Given the description of an element on the screen output the (x, y) to click on. 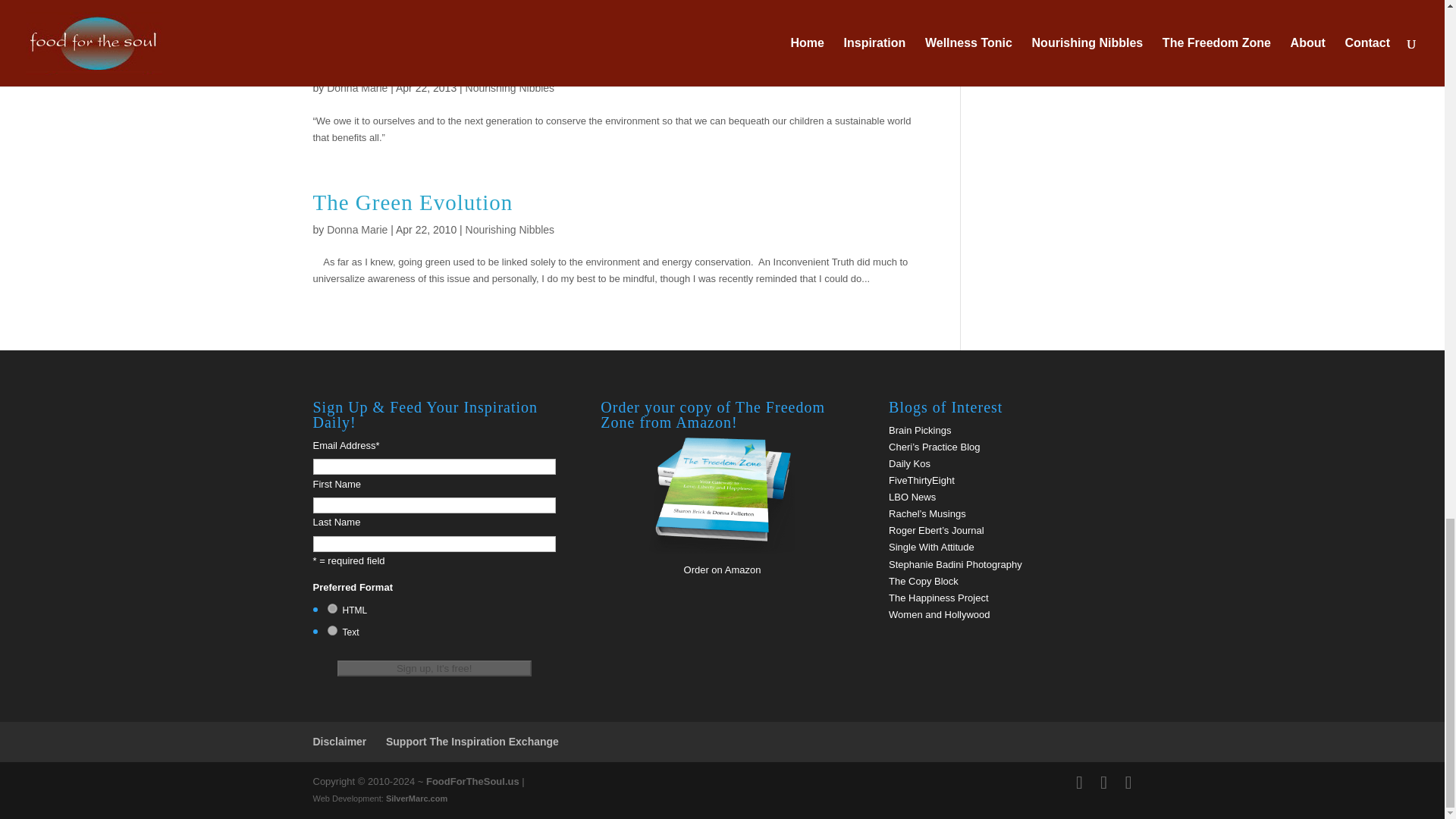
SilverMarc.com (415, 798)
Donna Marie (356, 229)
Sign up, It's free! (434, 668)
The Green Evolution (412, 202)
Posts by Donna Marie (356, 87)
text (332, 630)
Nourishing Nibbles (509, 87)
The Freedom Zone (722, 569)
The Freedom Zone (720, 552)
Dr. Wangari Maathai (412, 60)
Nourishing Nibbles (509, 229)
Posts by Donna Marie (356, 229)
html (332, 608)
Donna Marie (356, 87)
